Given the description of an element on the screen output the (x, y) to click on. 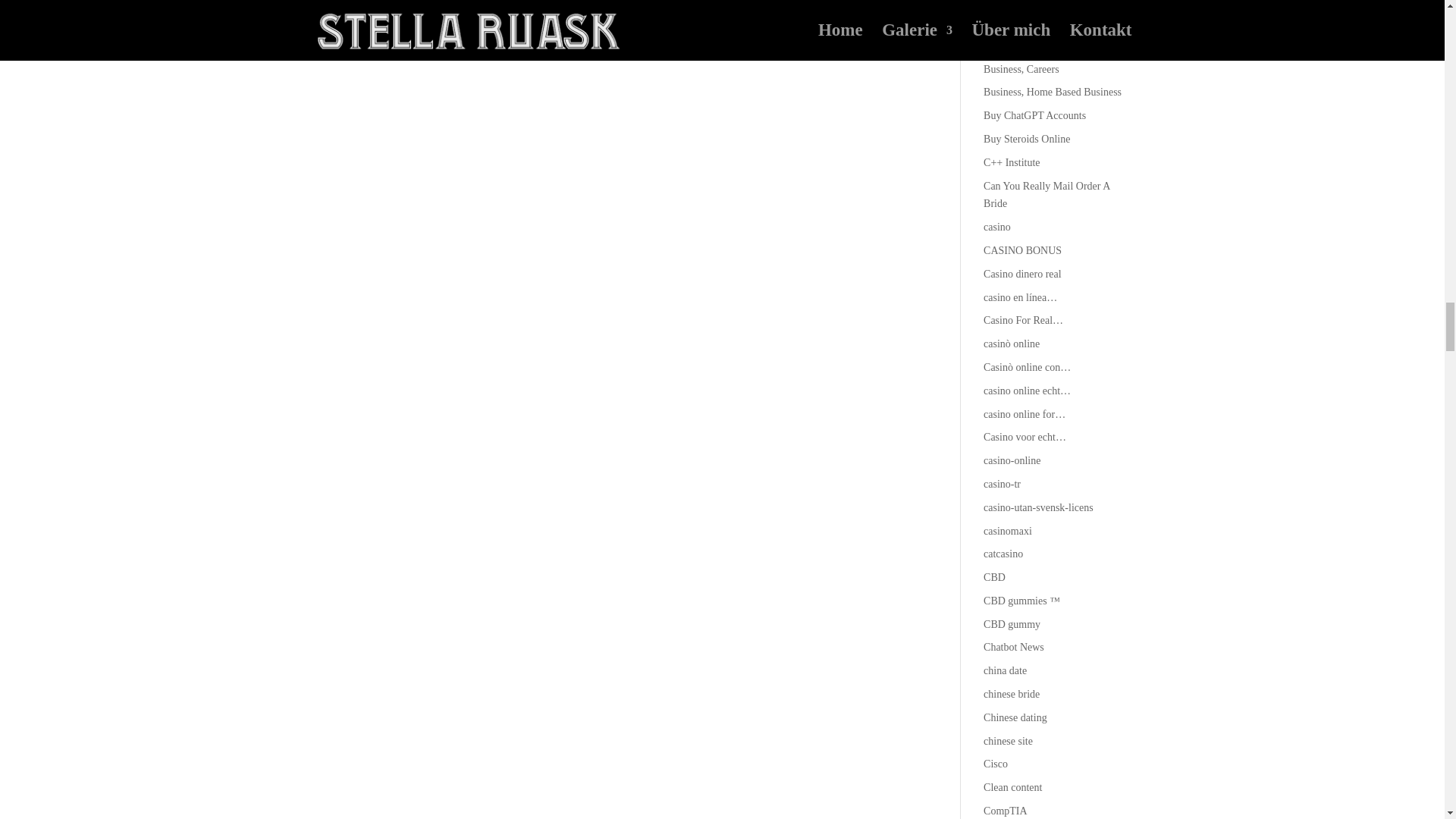
Business, Home Based Business (1052, 91)
Business, Careers (1021, 69)
Business, Advertising (1029, 45)
